Given the description of an element on the screen output the (x, y) to click on. 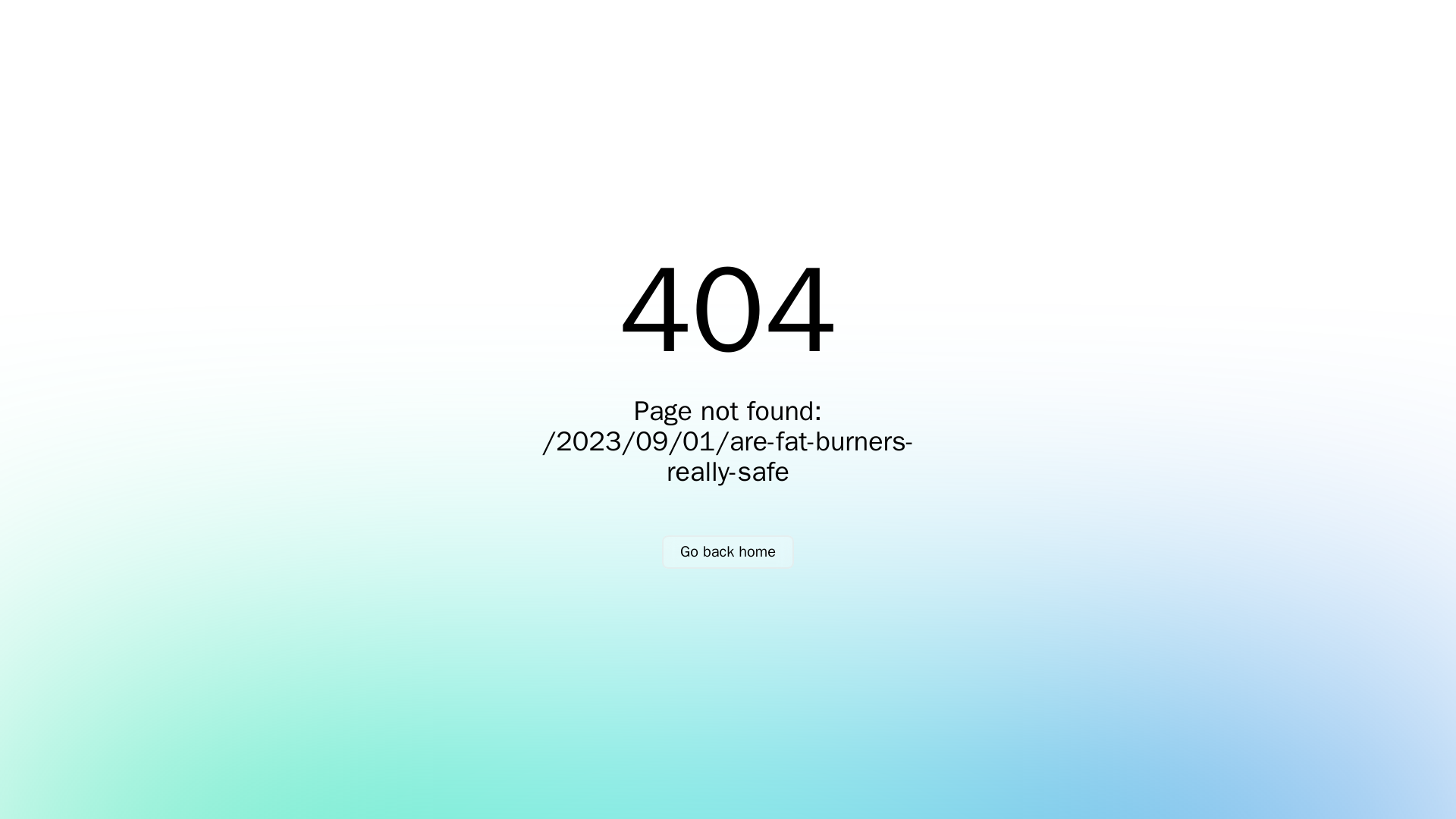
Go back home (727, 551)
